Given the description of an element on the screen output the (x, y) to click on. 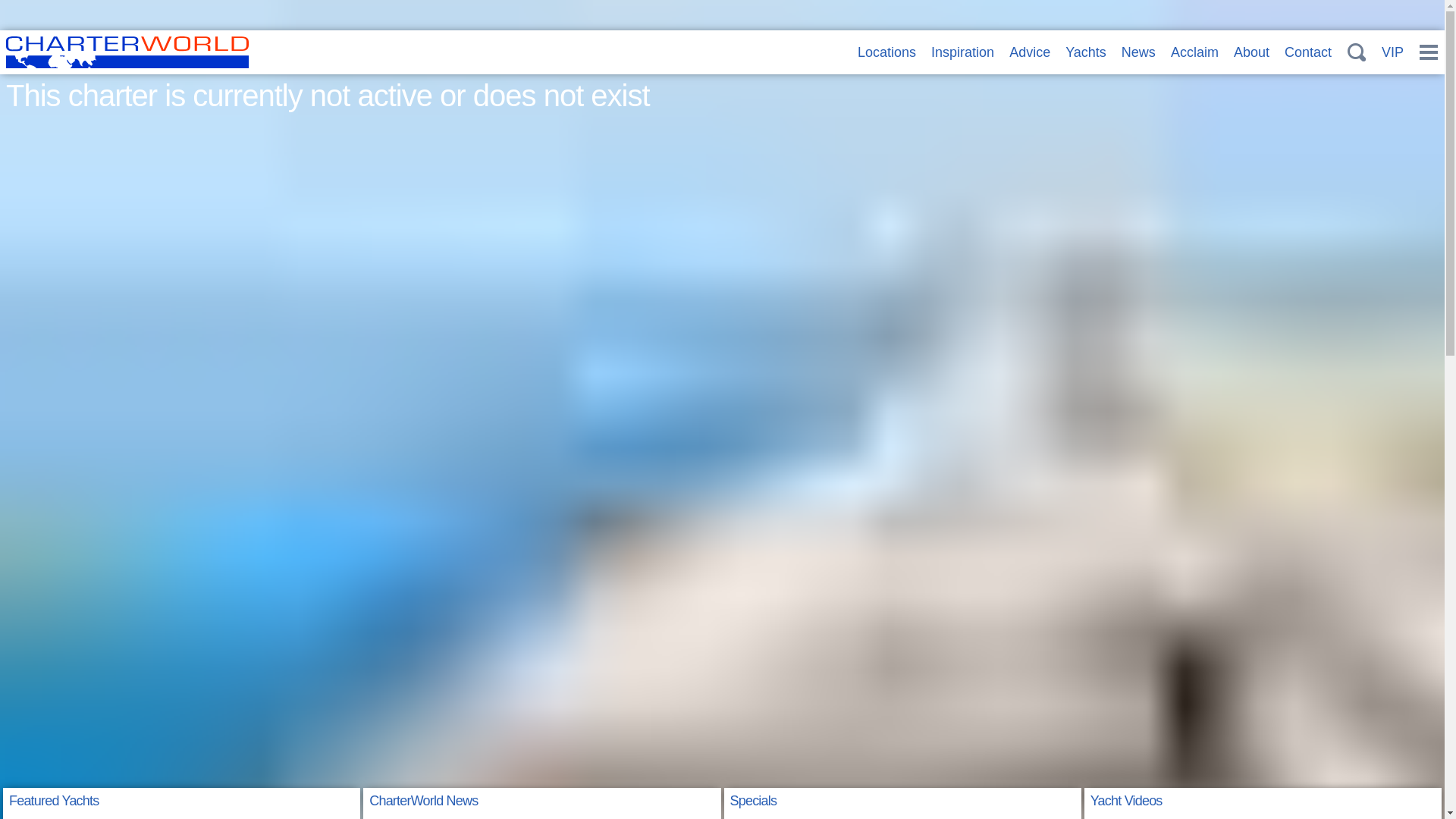
Yacht Videos (1125, 800)
Contact (1308, 51)
Acclaim (1194, 51)
Advice (1029, 51)
News (1138, 51)
Featured Yachts (53, 800)
About (1251, 51)
Inspiration (962, 51)
CharterWorld News (423, 800)
Locations (886, 51)
